Given the description of an element on the screen output the (x, y) to click on. 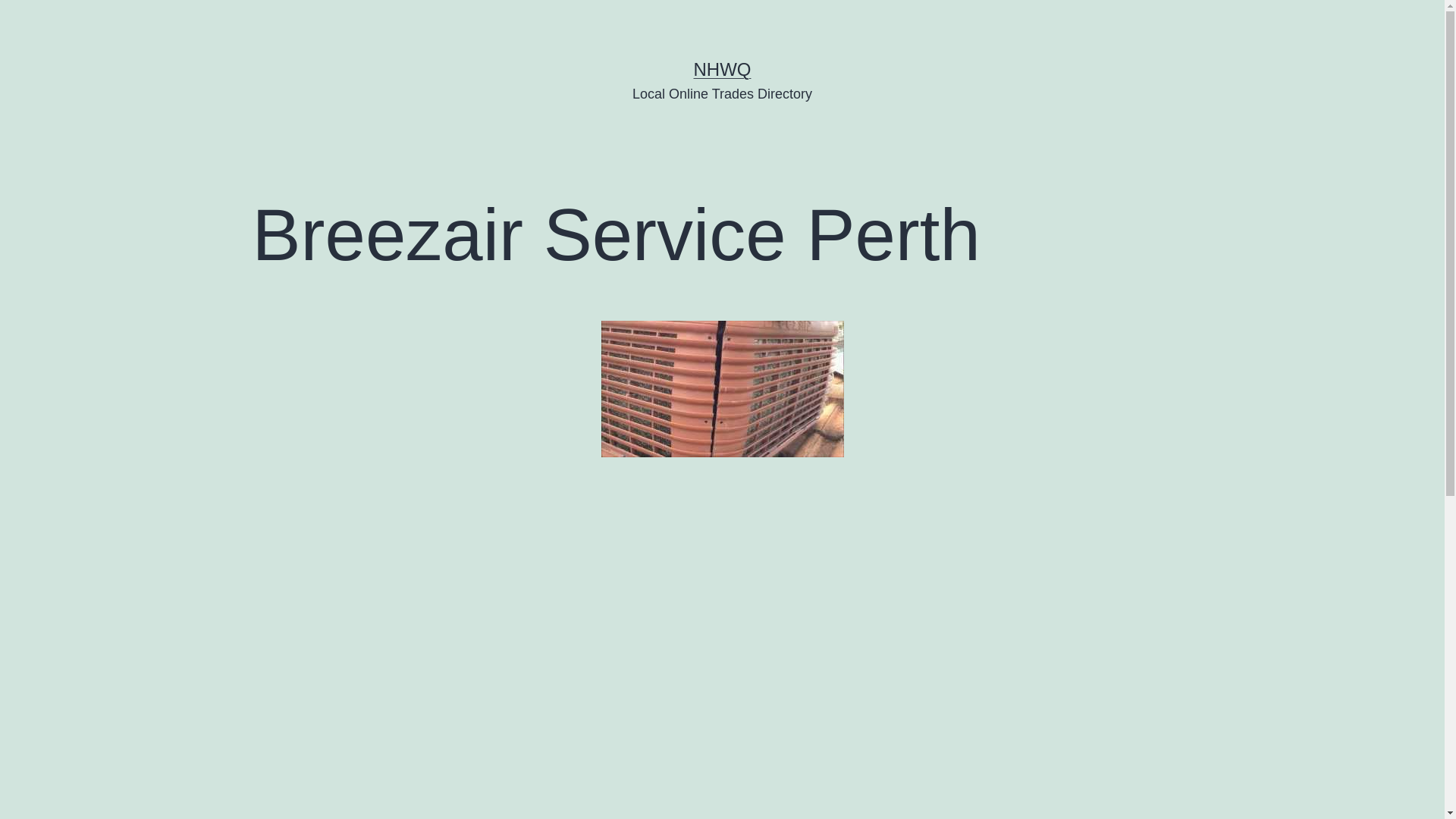
NHWQ Element type: text (721, 69)
